Given the description of an element on the screen output the (x, y) to click on. 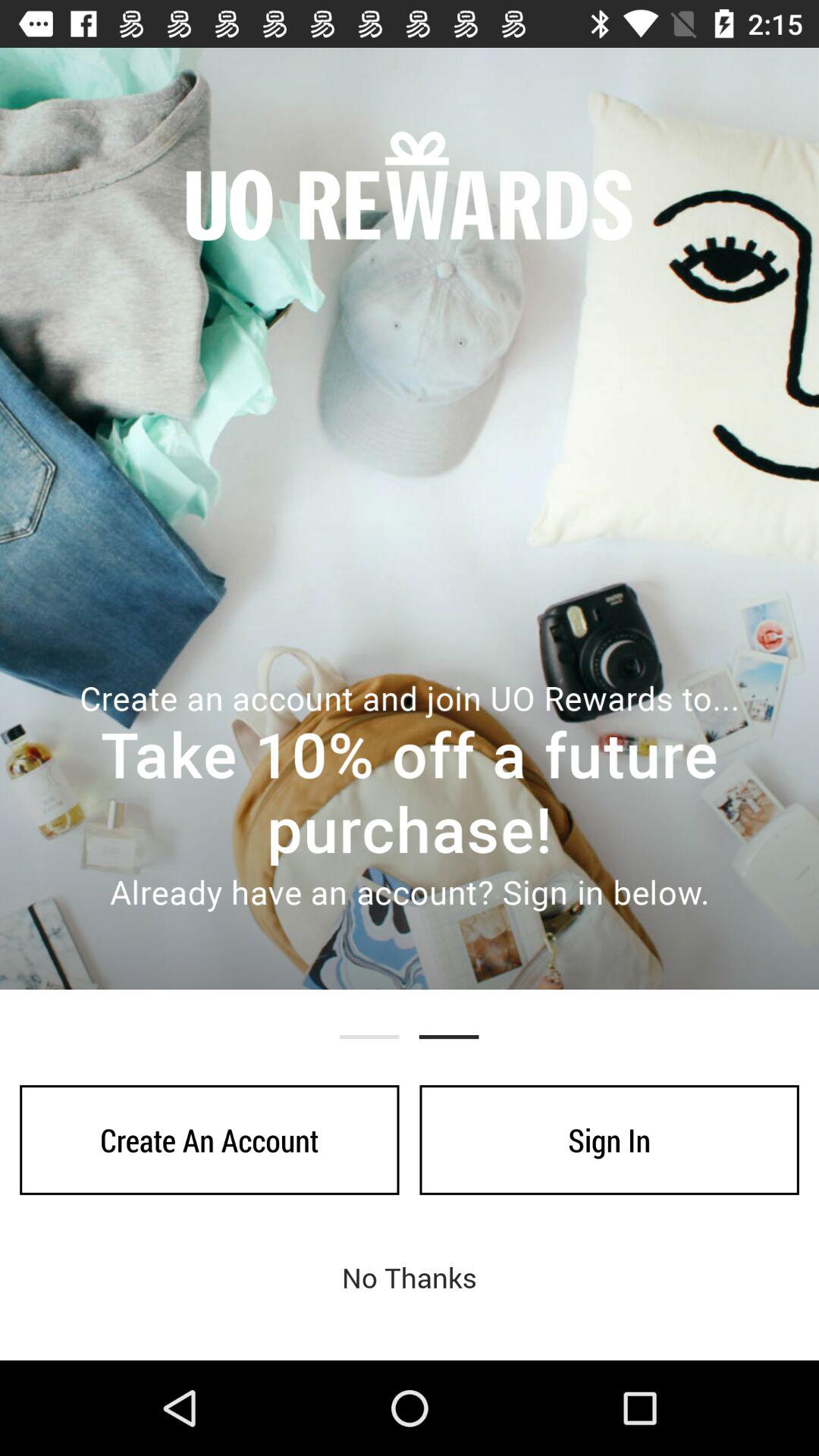
launch icon below the create an account icon (409, 1277)
